Given the description of an element on the screen output the (x, y) to click on. 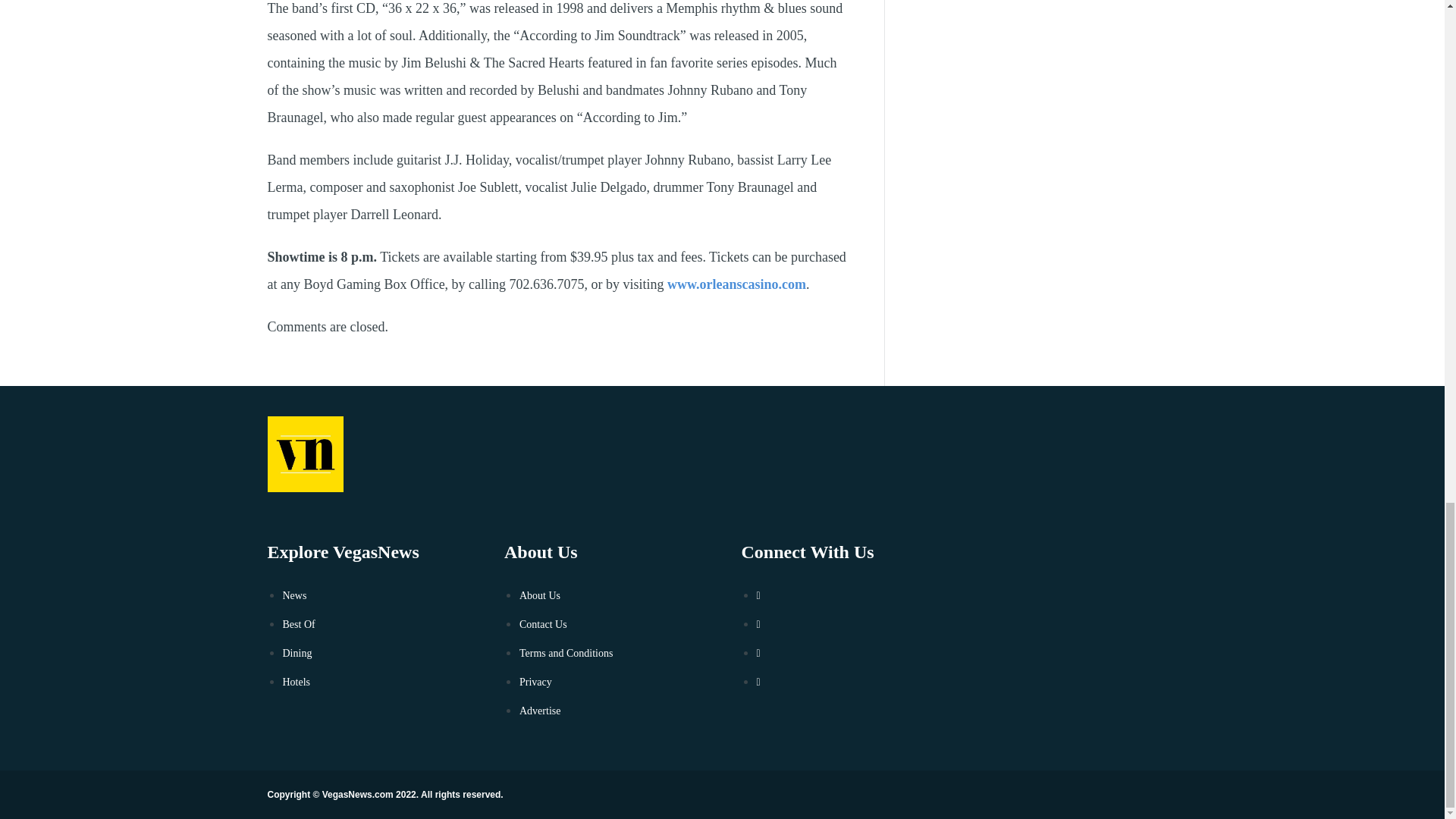
www.orleanscasino.com (736, 283)
About Us (539, 595)
Contact Us (543, 624)
Hotels (296, 681)
Dining (296, 653)
Privacy (535, 681)
News (293, 595)
Terms and Conditions (565, 653)
Best Of (298, 624)
Advertise (539, 710)
